Given the description of an element on the screen output the (x, y) to click on. 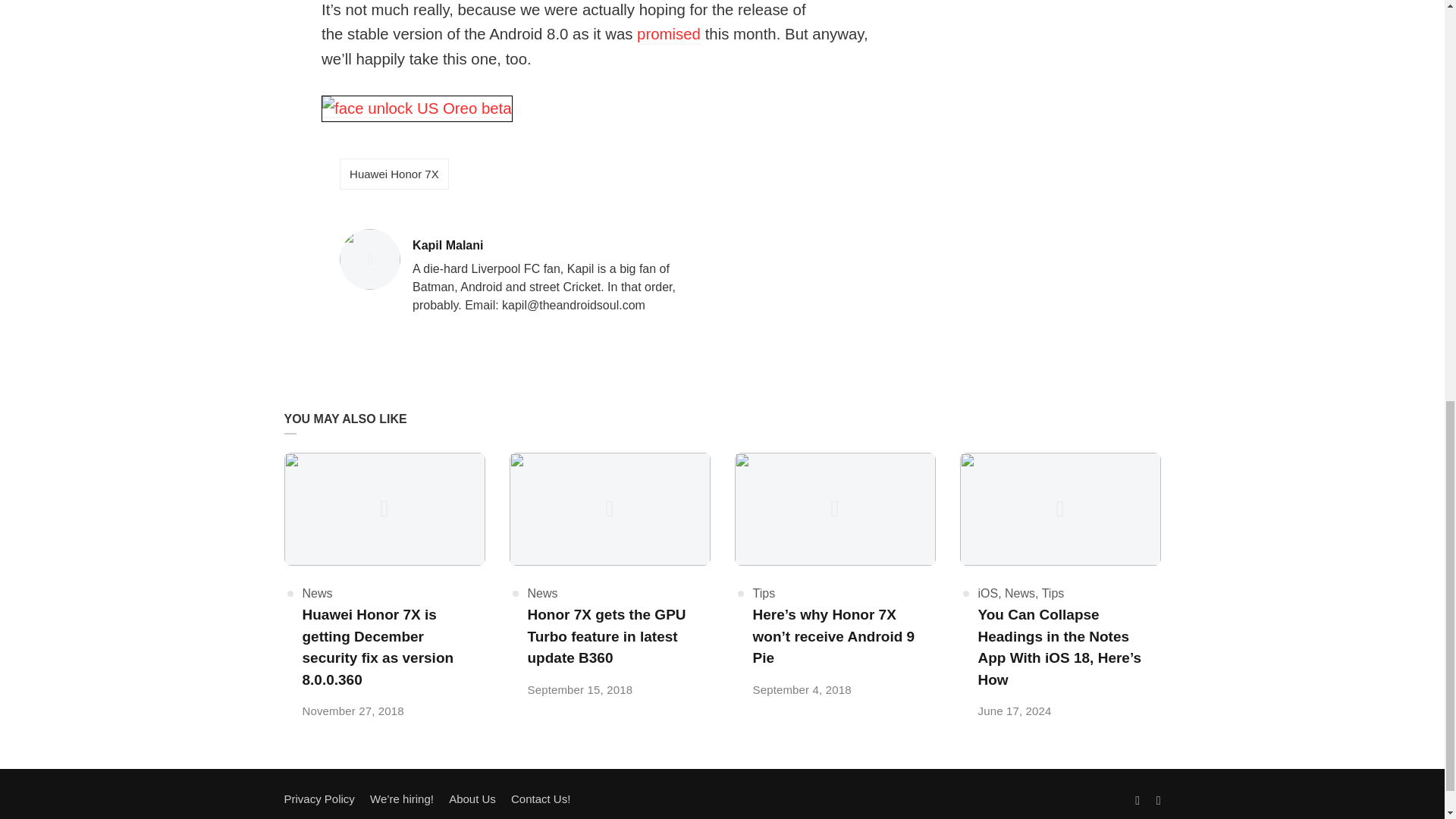
iOS (988, 593)
About Us (472, 798)
News (542, 593)
promised (668, 35)
Tips (1053, 593)
News (1019, 593)
Privacy Policy (564, 245)
Huawei Honor 7X (318, 798)
News (393, 173)
Tips (316, 593)
